Given the description of an element on the screen output the (x, y) to click on. 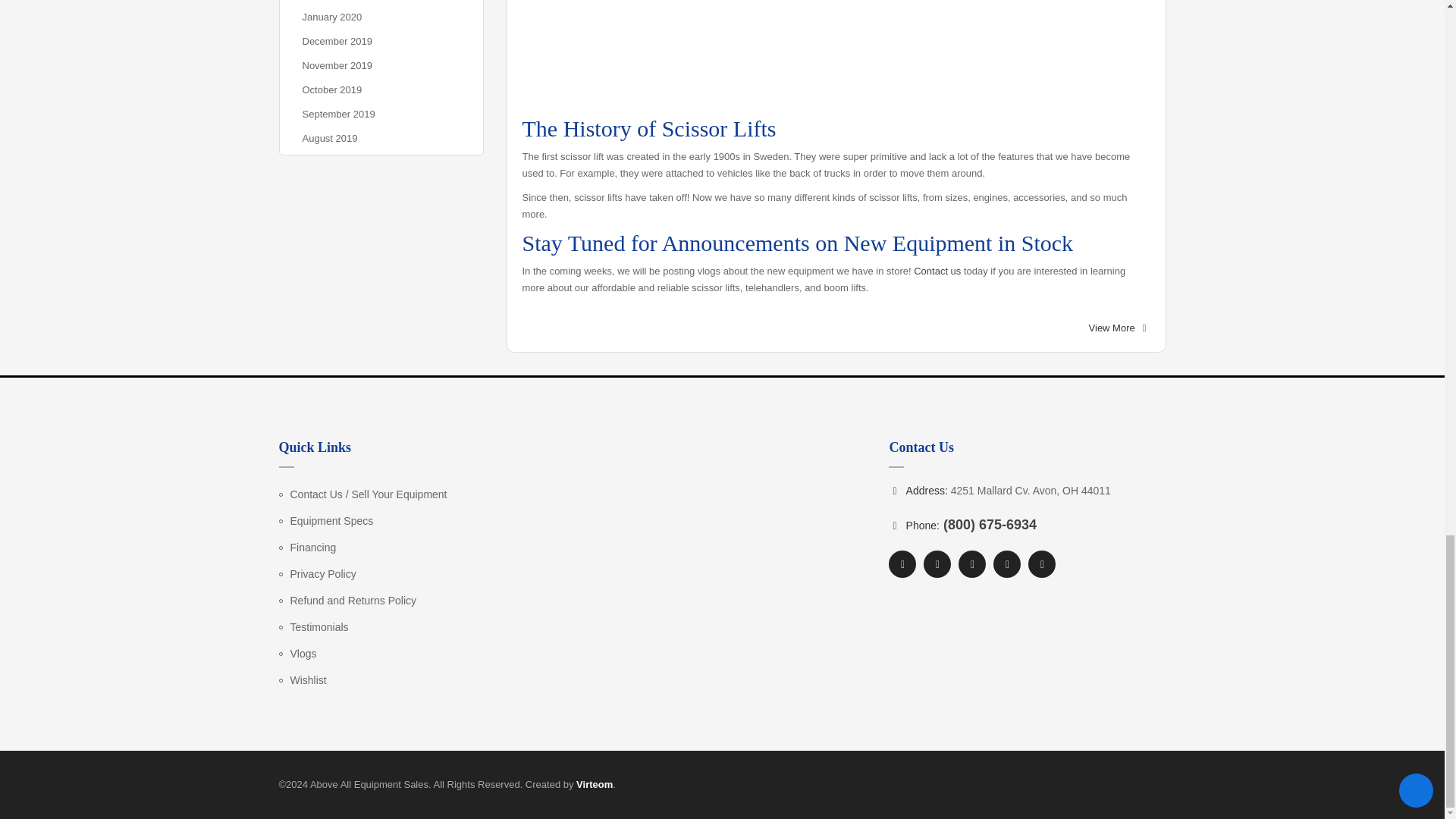
LinkedIn (1041, 564)
twitter (936, 564)
YouTube (971, 564)
Instagram (1006, 564)
Facebook (901, 564)
